Given the description of an element on the screen output the (x, y) to click on. 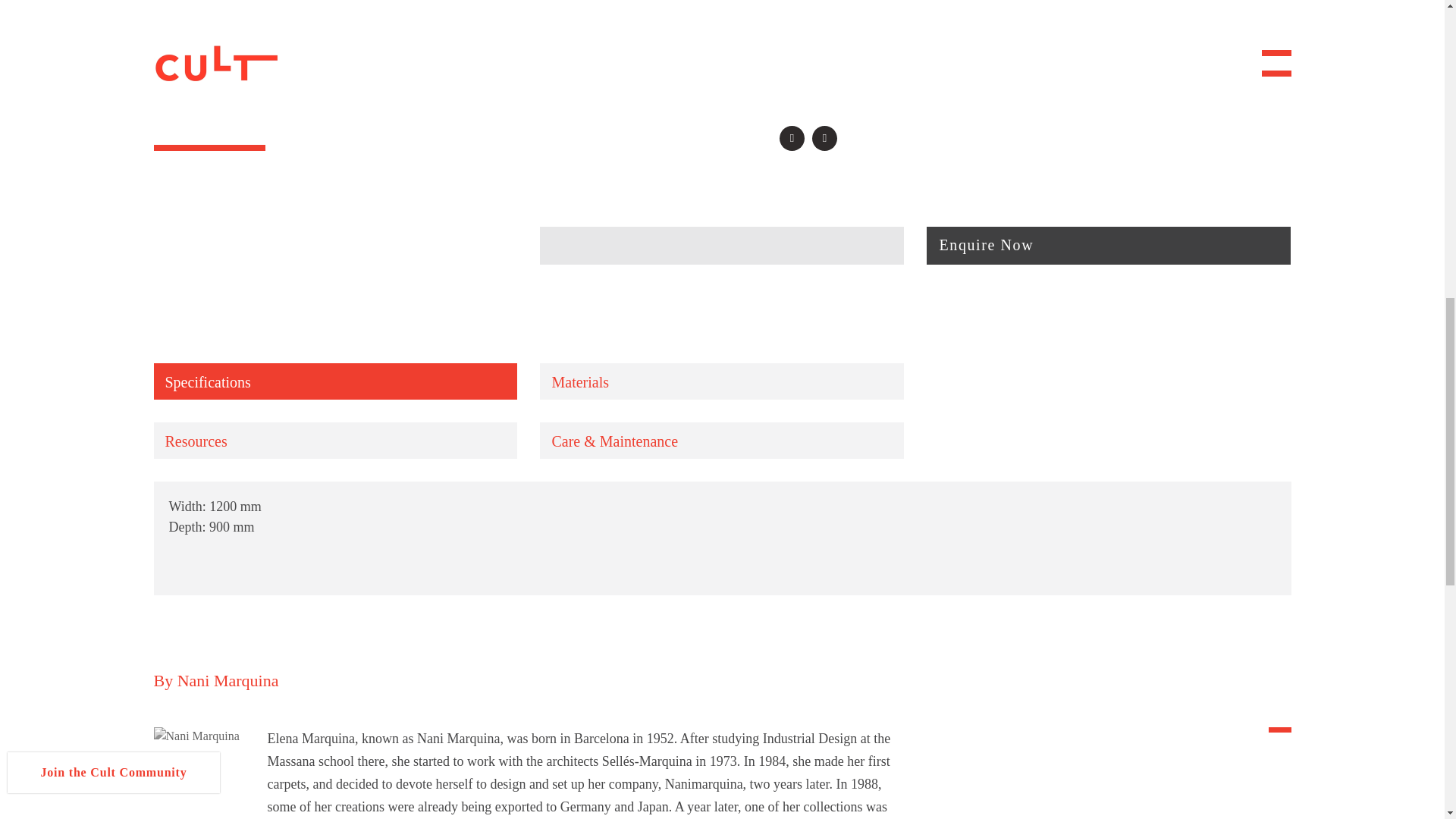
true (27, 441)
Subscribe (152, 483)
Enquire Now (1108, 245)
